Given the description of an element on the screen output the (x, y) to click on. 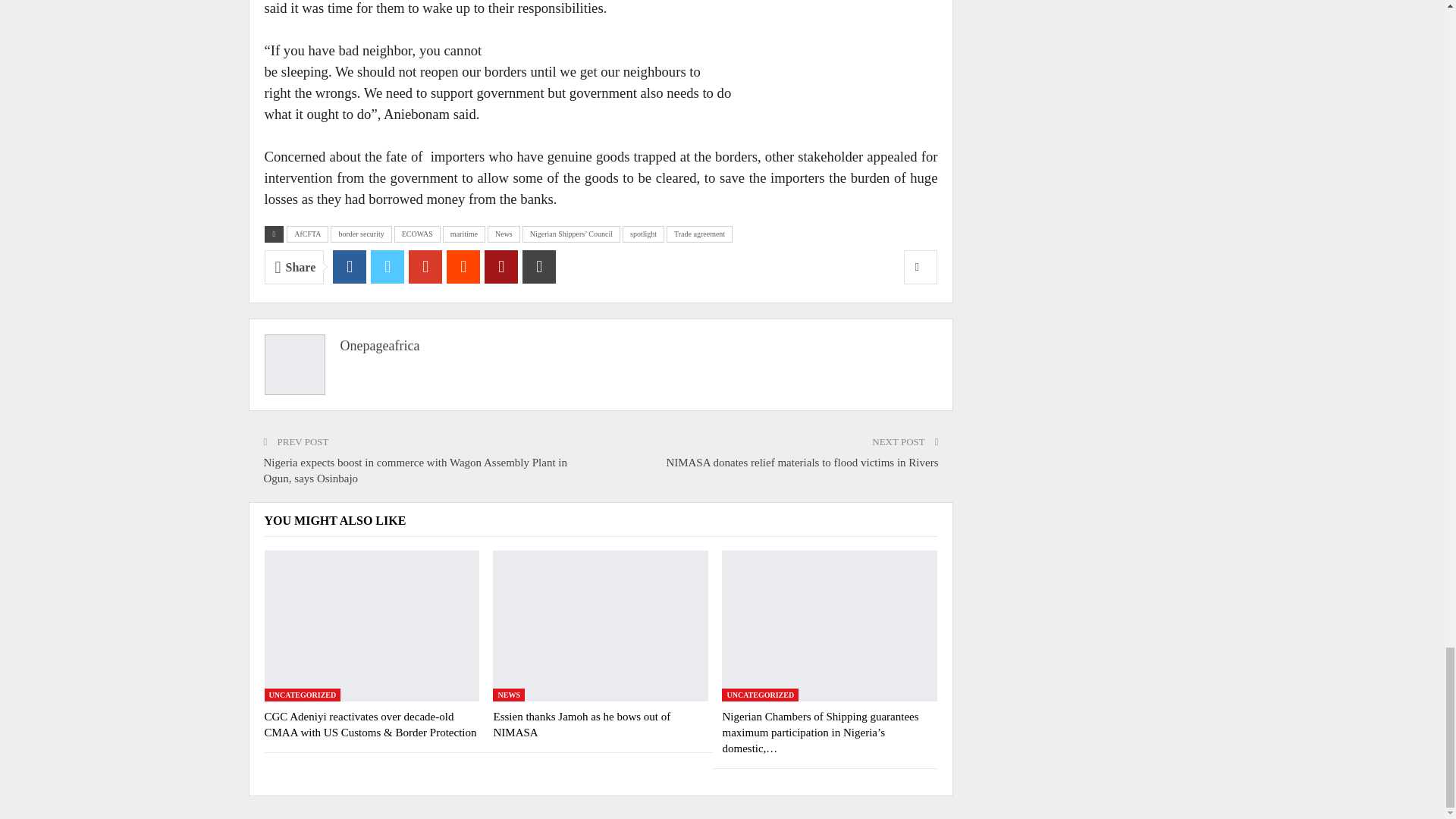
Essien thanks Jamoh as he bows out of NIMASA (581, 724)
Essien thanks Jamoh as he bows out of NIMASA (600, 625)
maritime (463, 234)
ECOWAS (417, 234)
News (503, 234)
border security (360, 234)
AfCFTA (307, 234)
